Given the description of an element on the screen output the (x, y) to click on. 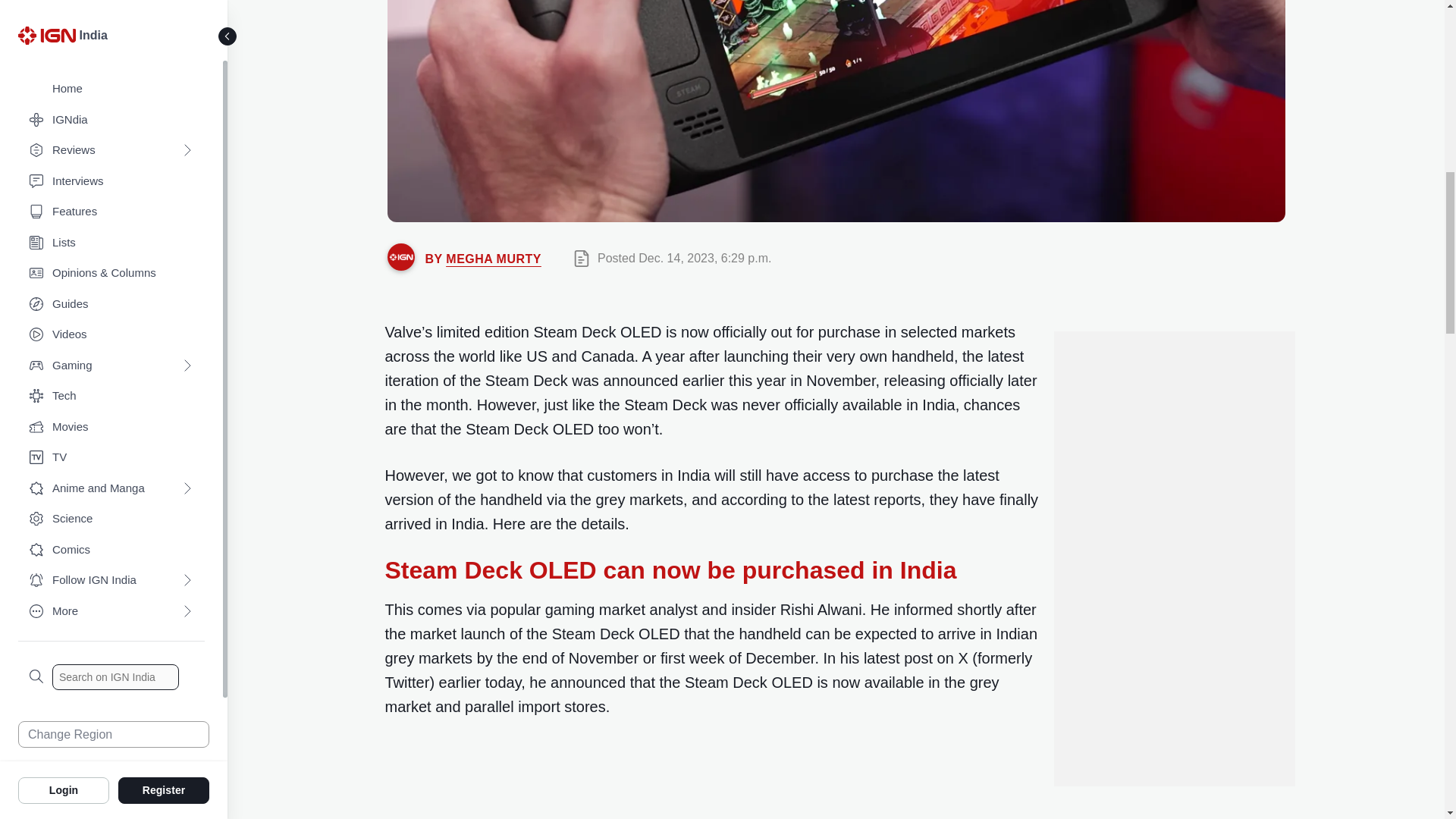
X Post (593, 780)
